Given the description of an element on the screen output the (x, y) to click on. 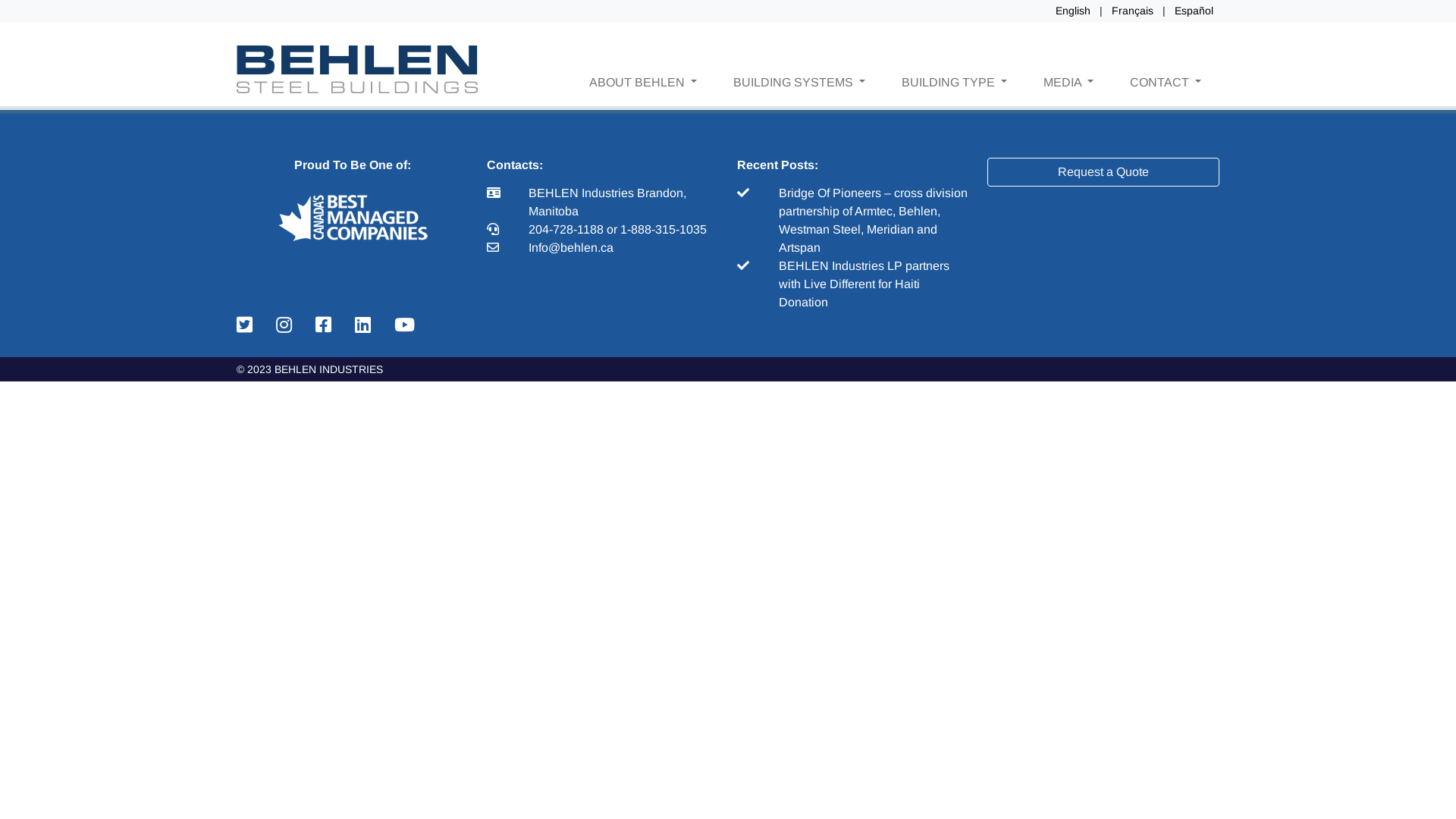
English Element type: text (1072, 10)
Request a Quote Element type: text (1103, 171)
BUILDING TYPE Element type: text (954, 81)
ABOUT BEHLEN Element type: text (642, 81)
MEDIA Element type: text (1068, 81)
204-728-1188 Element type: text (567, 228)
CONTACT Element type: text (1165, 81)
BUILDING SYSTEMS Element type: text (799, 81)
Info@behlen.ca Element type: text (570, 247)
1-888-315-1035 Element type: text (663, 228)
Home page Element type: text (792, 89)
